Given the description of an element on the screen output the (x, y) to click on. 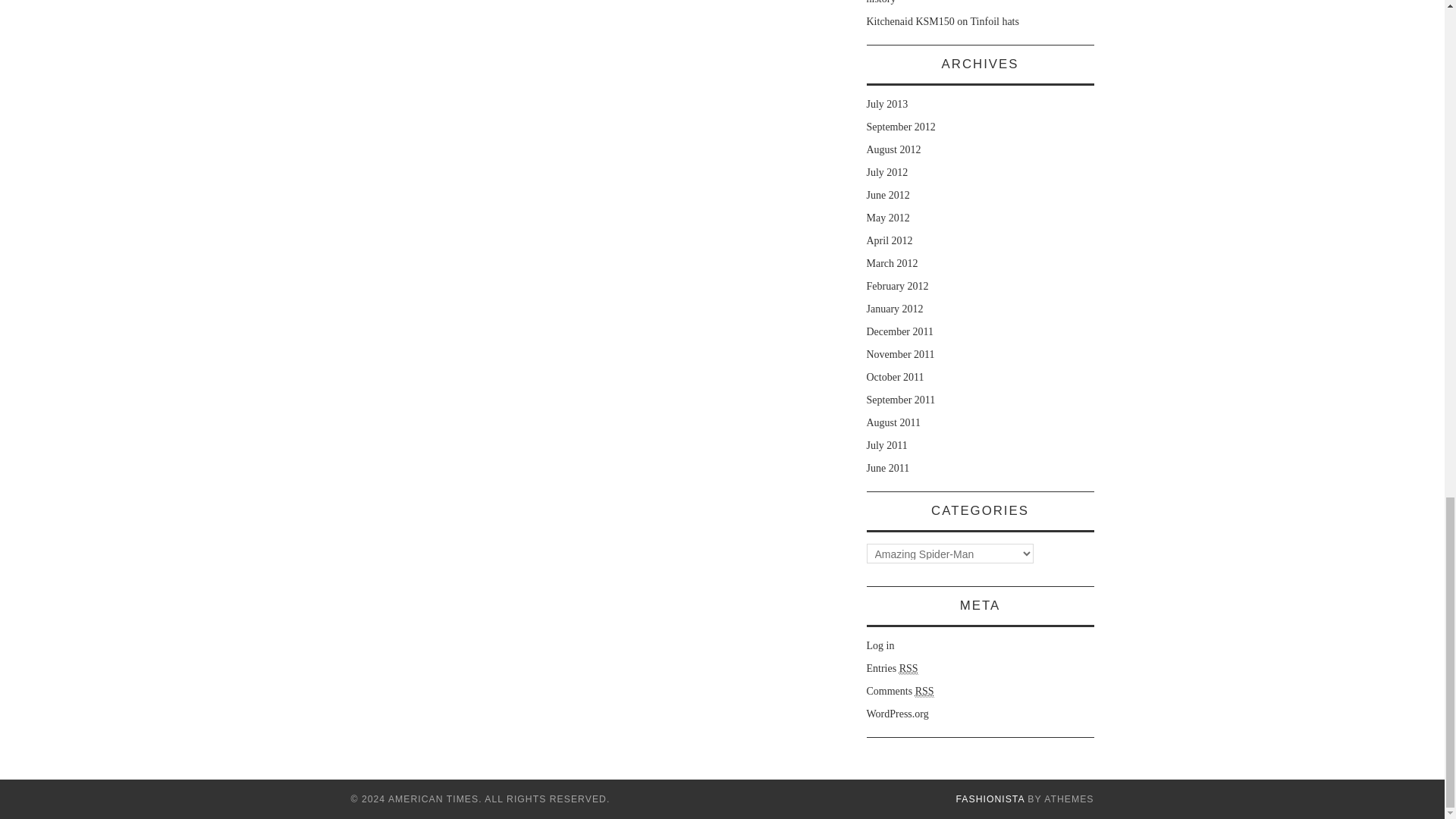
Really Simple Syndication (924, 691)
Really Simple Syndication (908, 668)
